Given the description of an element on the screen output the (x, y) to click on. 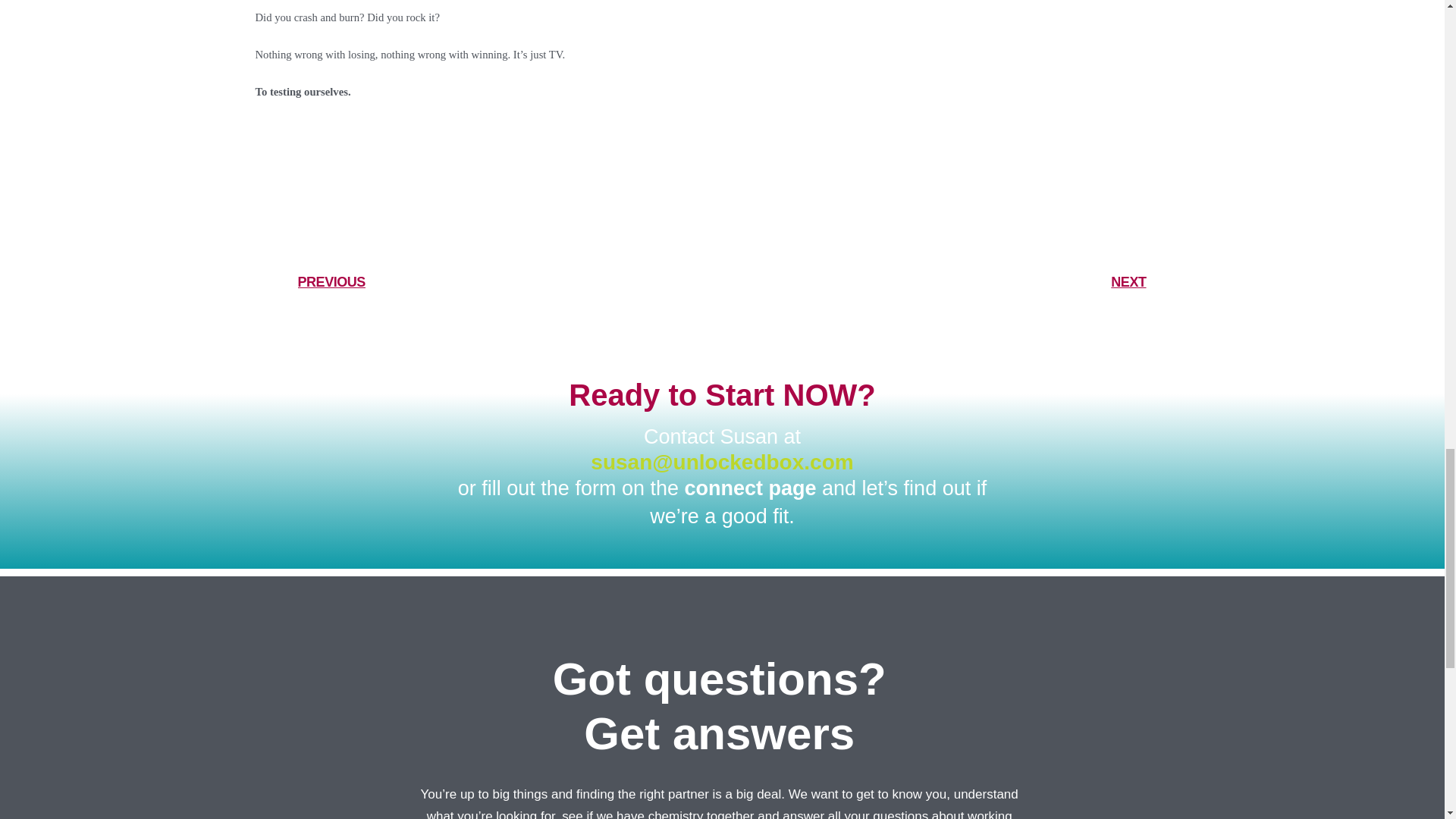
connect page (753, 487)
PREVIOUS (509, 282)
NEXT (934, 282)
